Given the description of an element on the screen output the (x, y) to click on. 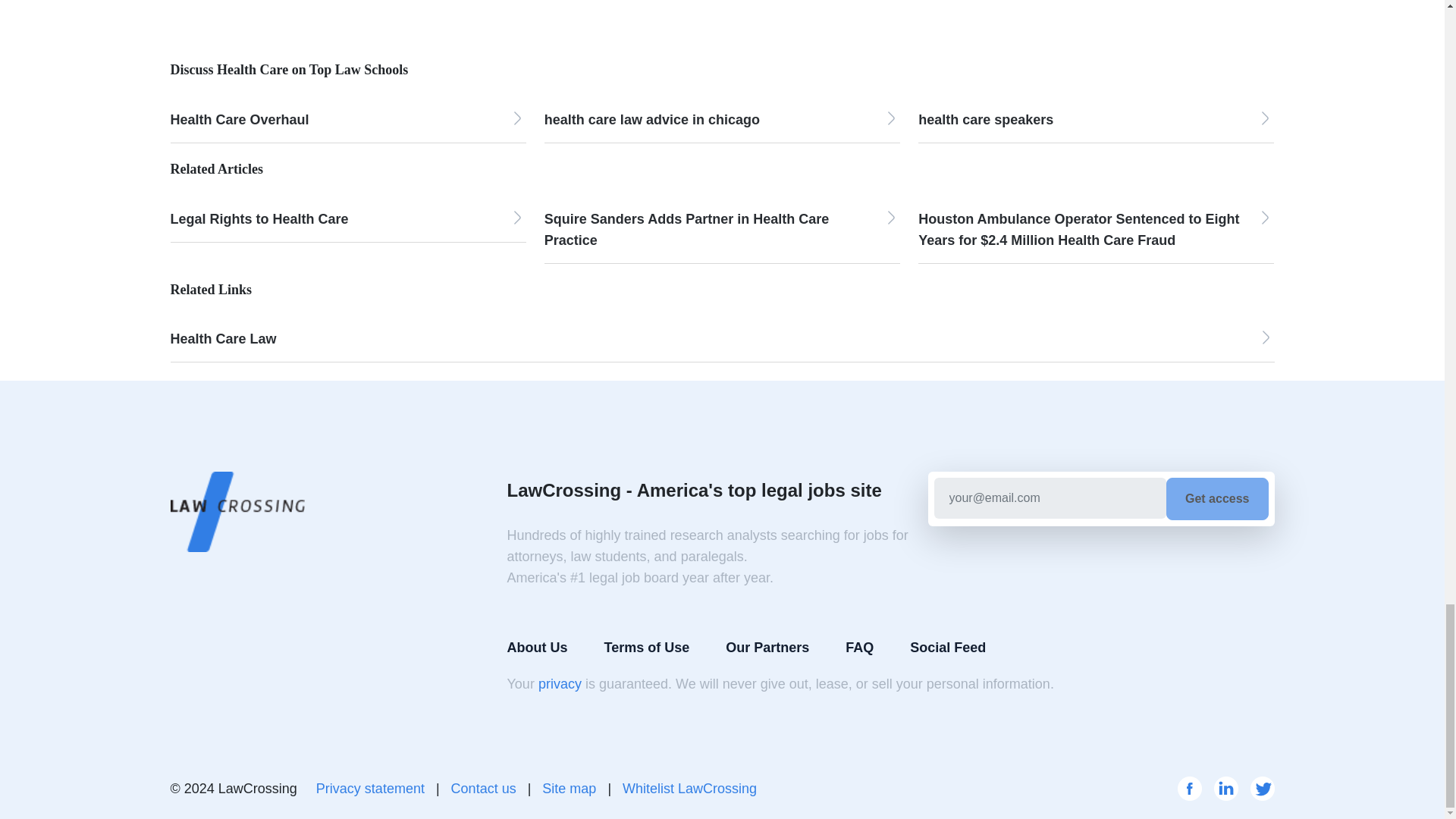
LawCrossing Twitter (1261, 788)
LawCrossing Facebook (1188, 788)
LawCrossing Linkedin (1224, 788)
